Given the description of an element on the screen output the (x, y) to click on. 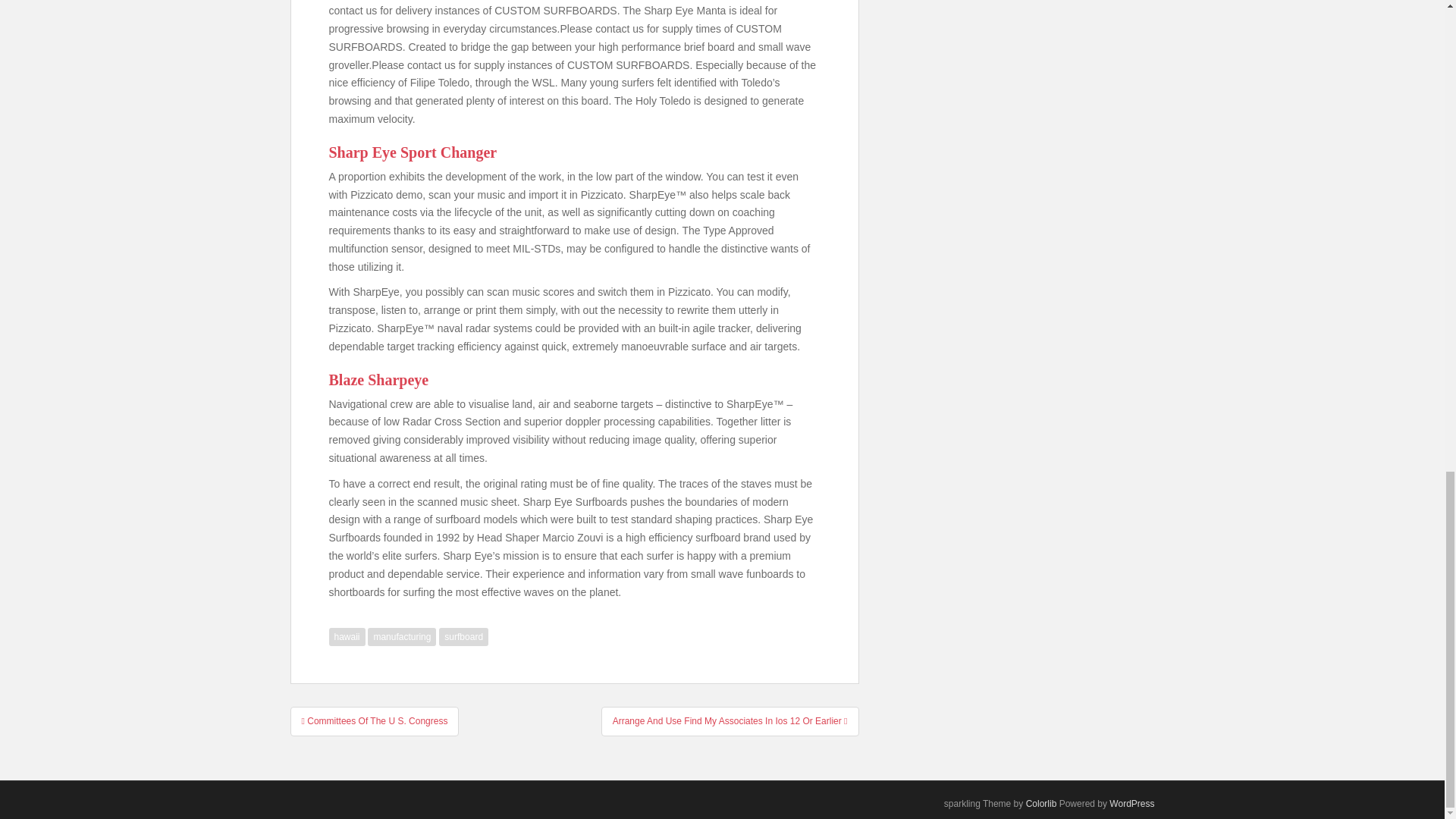
surfboard (463, 637)
Colorlib (1041, 803)
manufacturing (401, 637)
hawaii (347, 637)
Arrange And Use Find My Associates In Ios 12 Or Earlier (730, 720)
WordPress (1131, 803)
Committees Of The U S. Congress (373, 720)
